Given the description of an element on the screen output the (x, y) to click on. 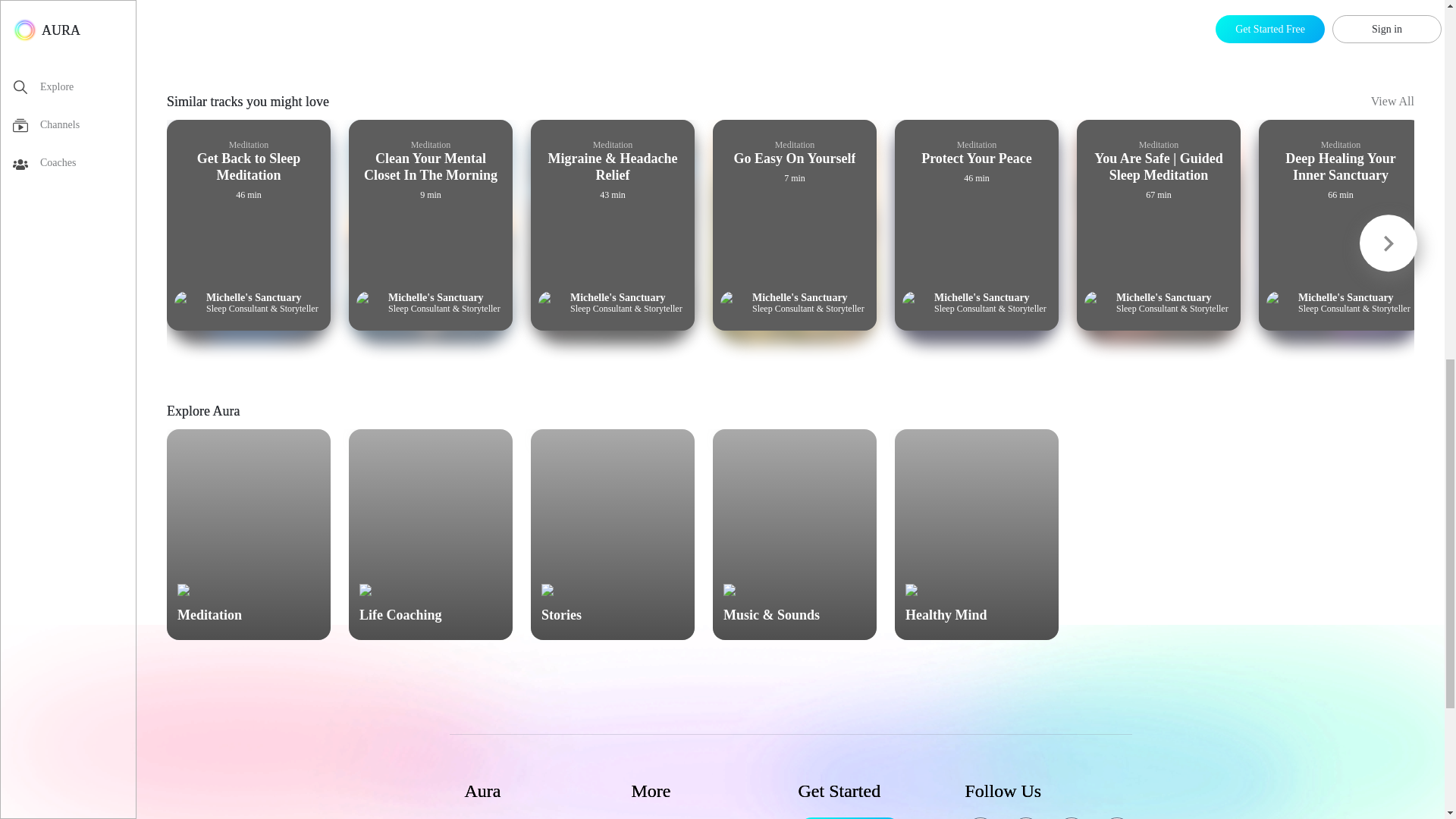
View All (1392, 105)
